Given the description of an element on the screen output the (x, y) to click on. 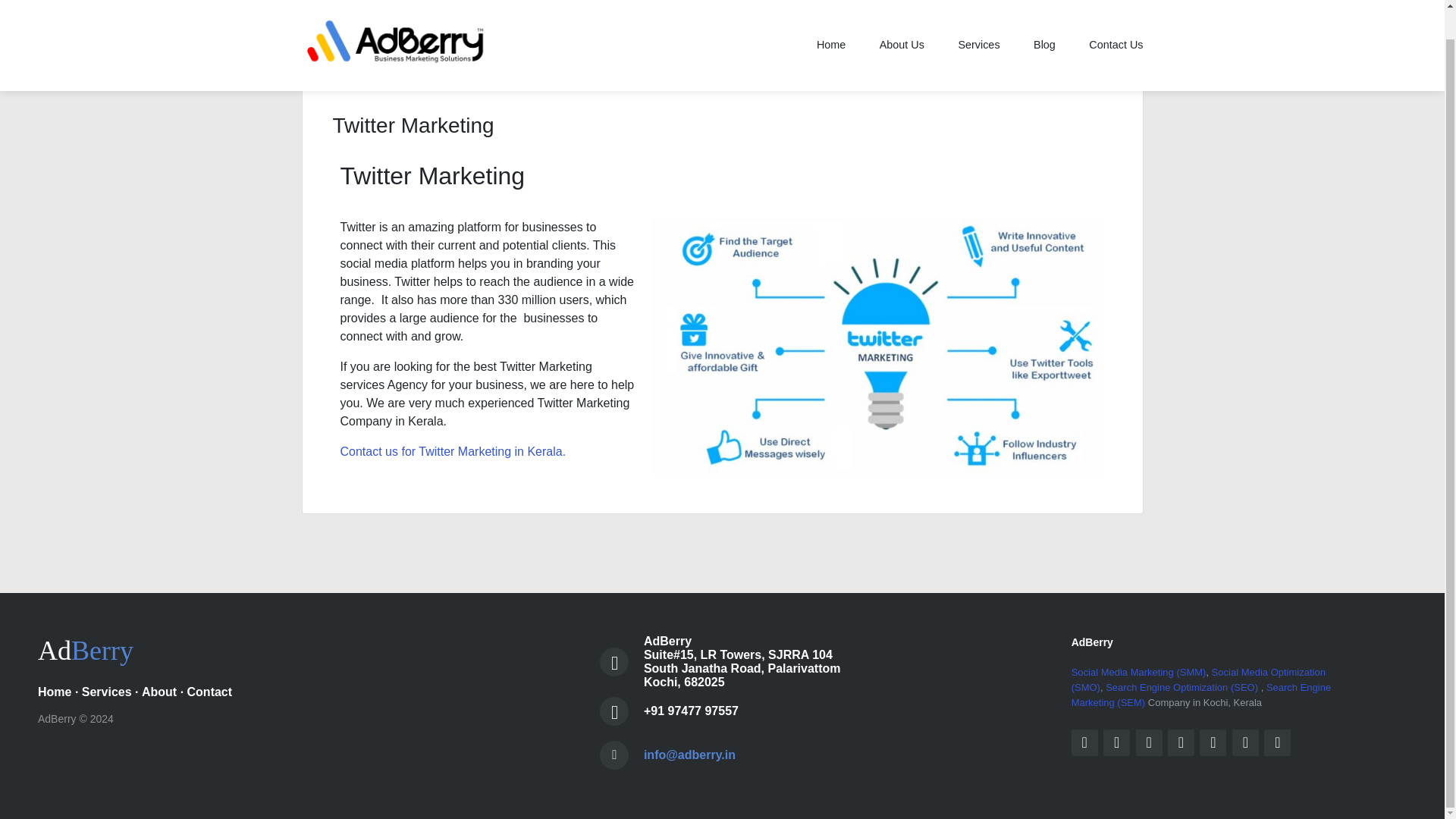
Contact Us (1108, 17)
Blog (1043, 17)
Contact (209, 692)
About (158, 692)
Home (832, 17)
Contact us for Twitter Marketing in Kerala. (452, 451)
Home (54, 692)
About Us (901, 17)
Services (978, 17)
Services (106, 692)
